Given the description of an element on the screen output the (x, y) to click on. 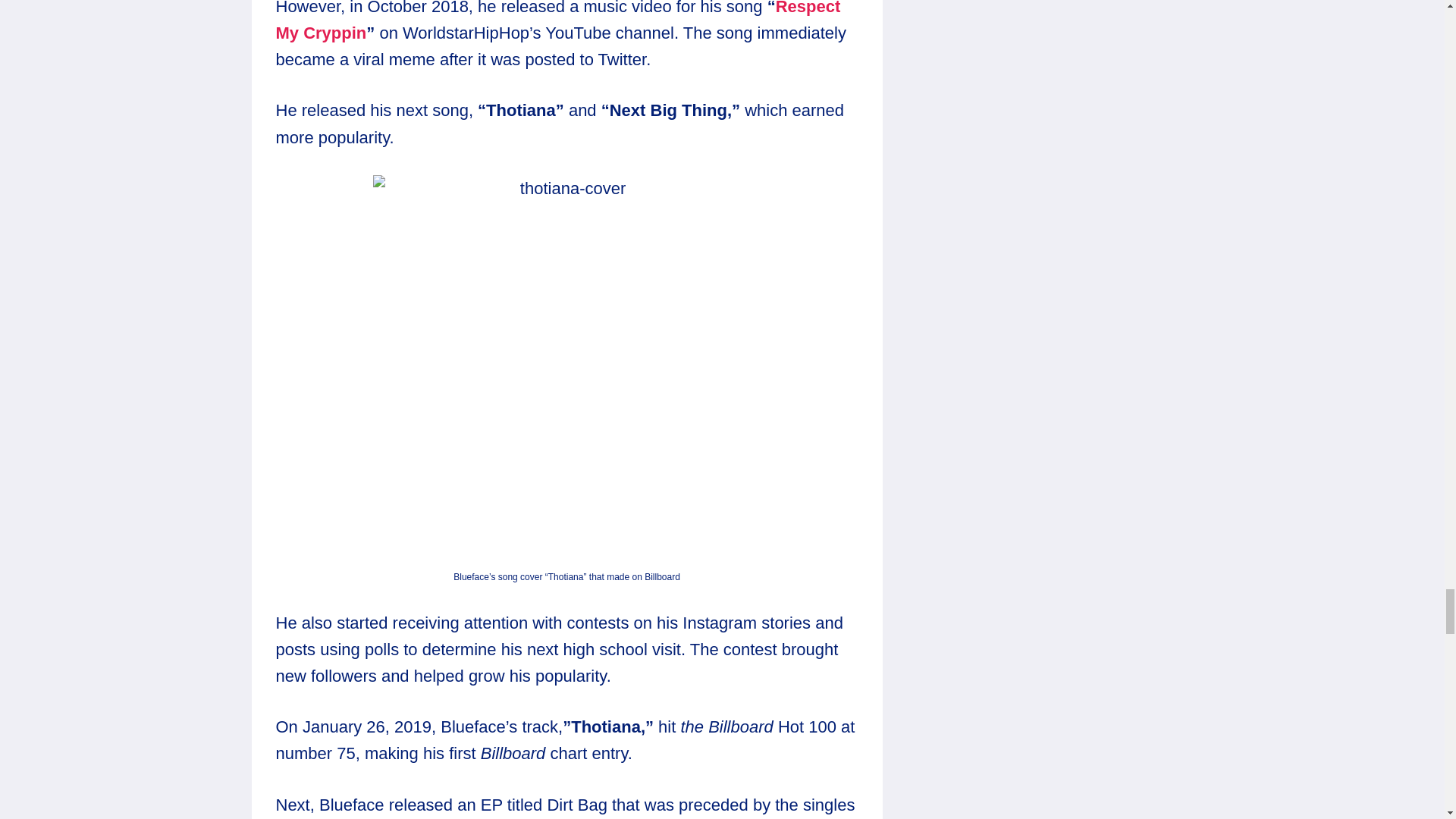
Respect My Cryppin (558, 21)
